Given the description of an element on the screen output the (x, y) to click on. 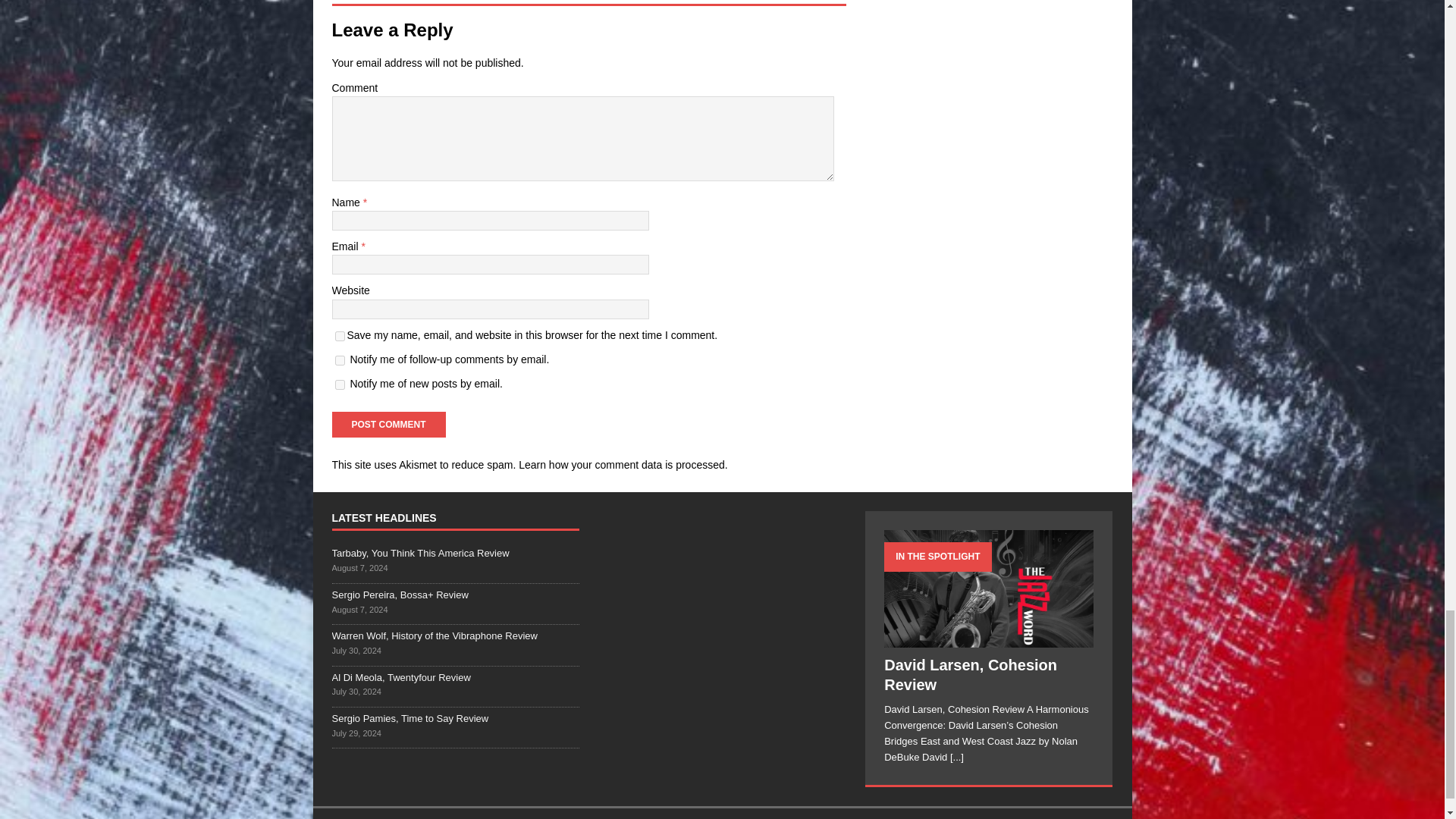
subscribe (339, 384)
subscribe (339, 360)
Post Comment (388, 424)
yes (339, 335)
